Given the description of an element on the screen output the (x, y) to click on. 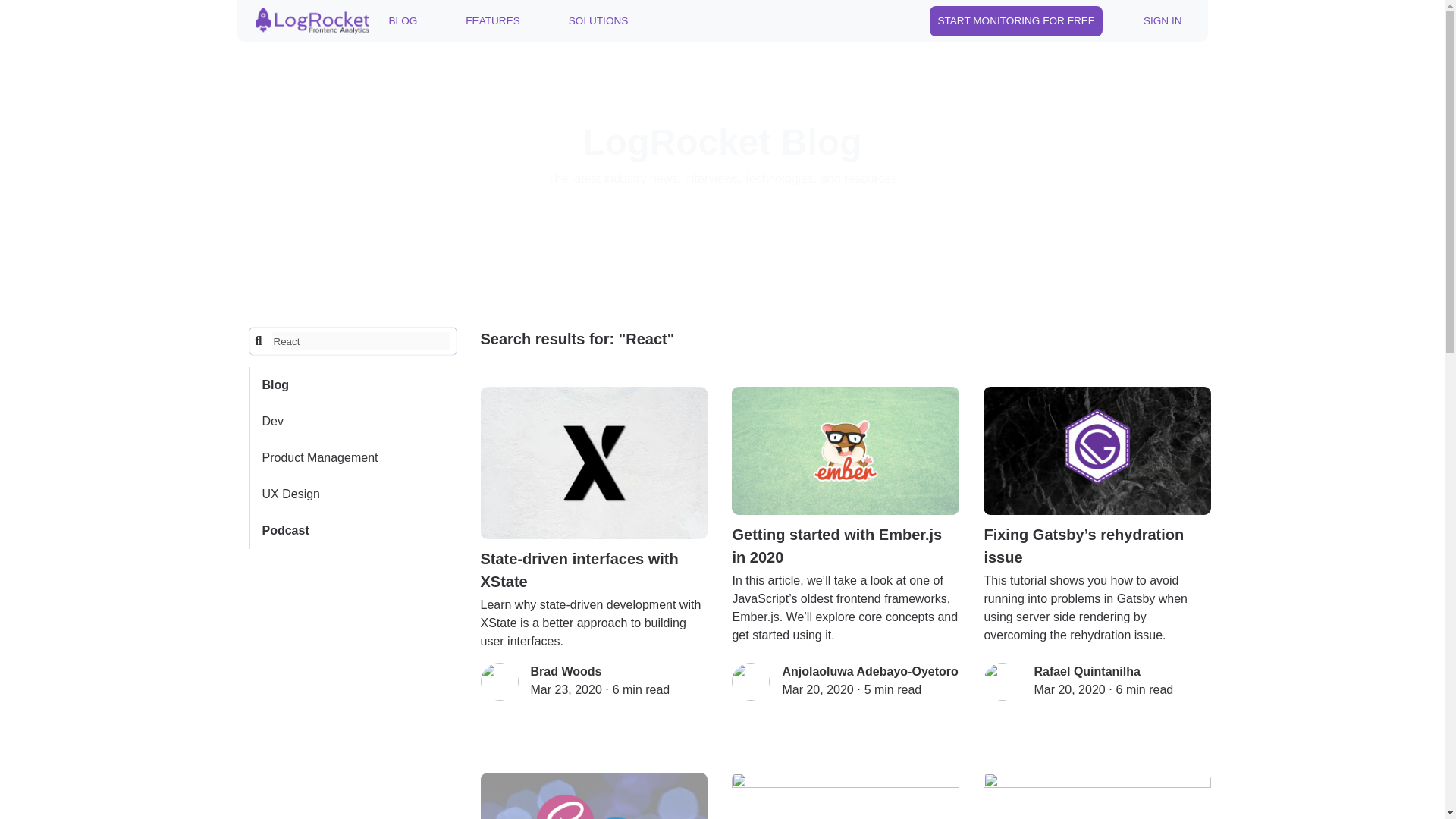
Redux DevTools: Tips and tricks for faster debugging (845, 796)
START MONITORING FOR FREE (1016, 20)
SOLUTIONS (598, 20)
React (360, 341)
UX Design (353, 493)
Rafael Quintanilha (1086, 671)
Getting started with Ember.js in 2020 (845, 477)
Dev (353, 421)
The single-page application must die (1097, 796)
FEATURES (492, 20)
Product Management (353, 457)
State-driven interfaces with XState (593, 489)
Brad Woods (566, 671)
Podcast (353, 530)
SIGN IN (1162, 20)
